Given the description of an element on the screen output the (x, y) to click on. 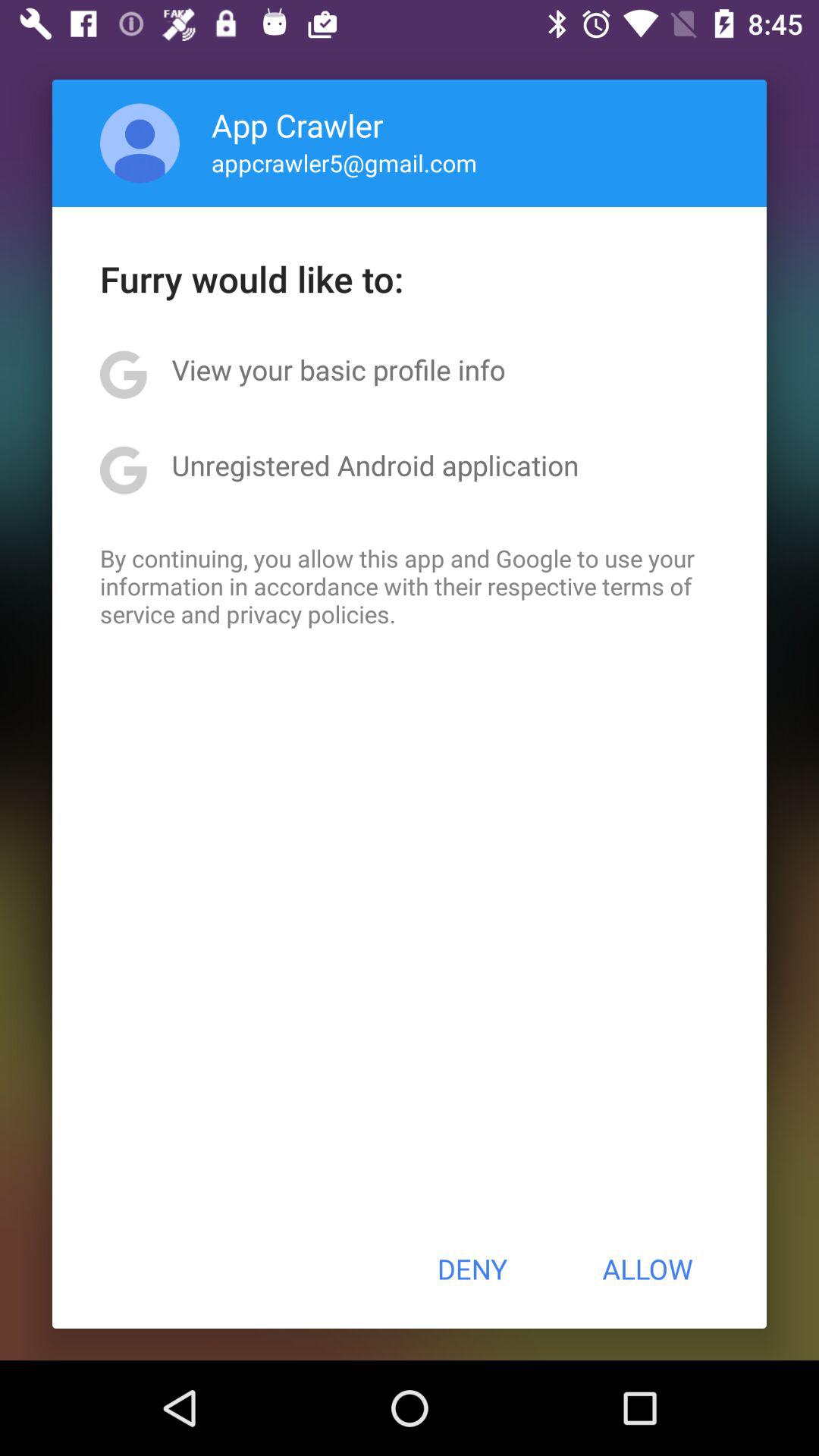
open the item above furry would like (344, 162)
